Given the description of an element on the screen output the (x, y) to click on. 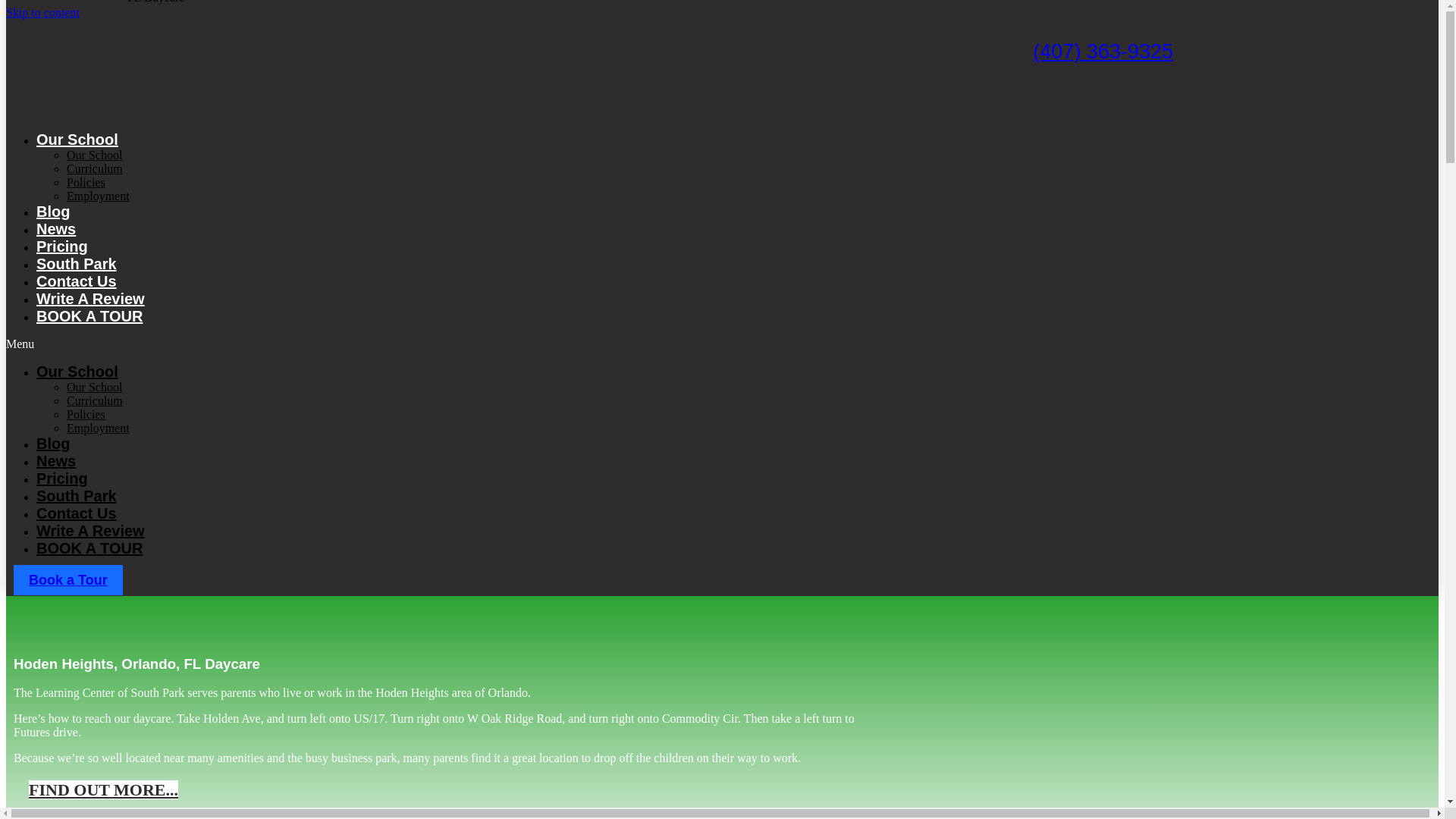
FIND OUT MORE... (103, 789)
Policies (85, 413)
Pricing (61, 246)
Book a Tour (67, 580)
News (55, 460)
Pricing (61, 478)
Our School (94, 386)
Write A Review (90, 298)
Curriculum (94, 400)
South Park (76, 495)
Blog (52, 443)
Employment (97, 195)
Employment (97, 427)
BOOK A TOUR (89, 315)
News (55, 228)
